Given the description of an element on the screen output the (x, y) to click on. 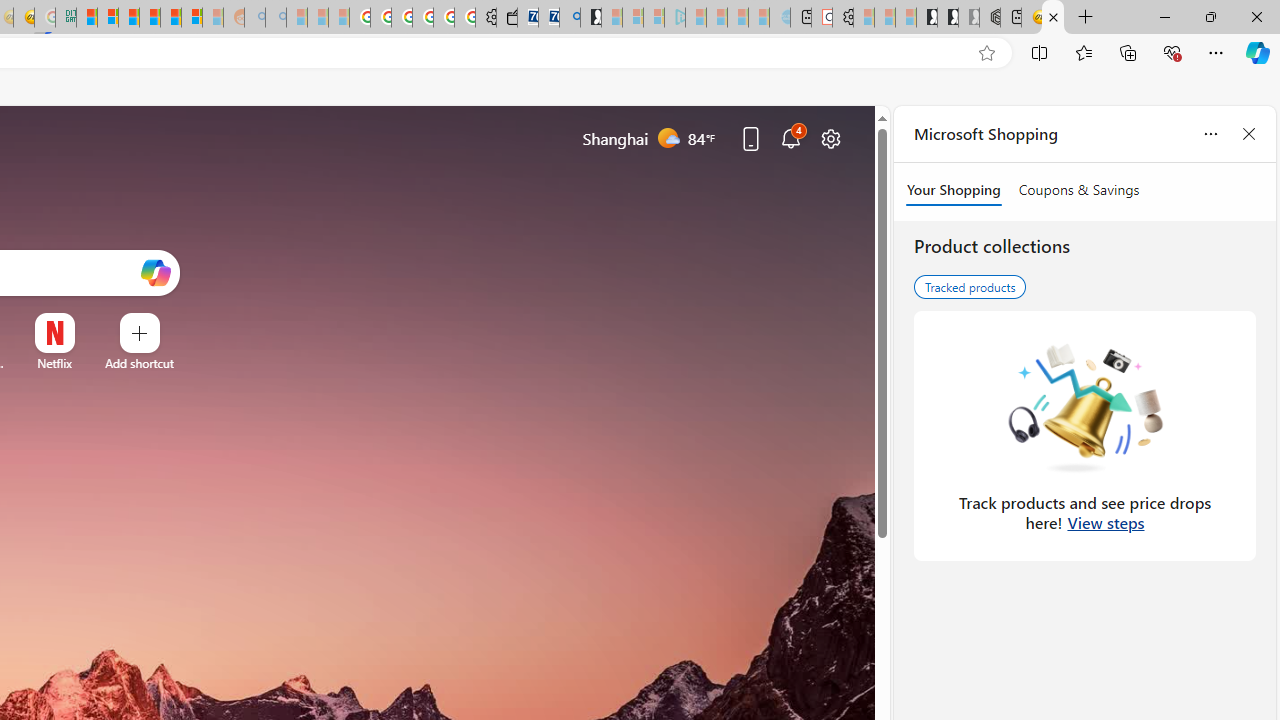
DITOGAMES AG Imprint (65, 17)
Utah sues federal government - Search - Sleeping (275, 17)
Play Free Online Games | Games from Microsoft Start (926, 17)
Add a site (139, 363)
Notifications (790, 138)
